Given the description of an element on the screen output the (x, y) to click on. 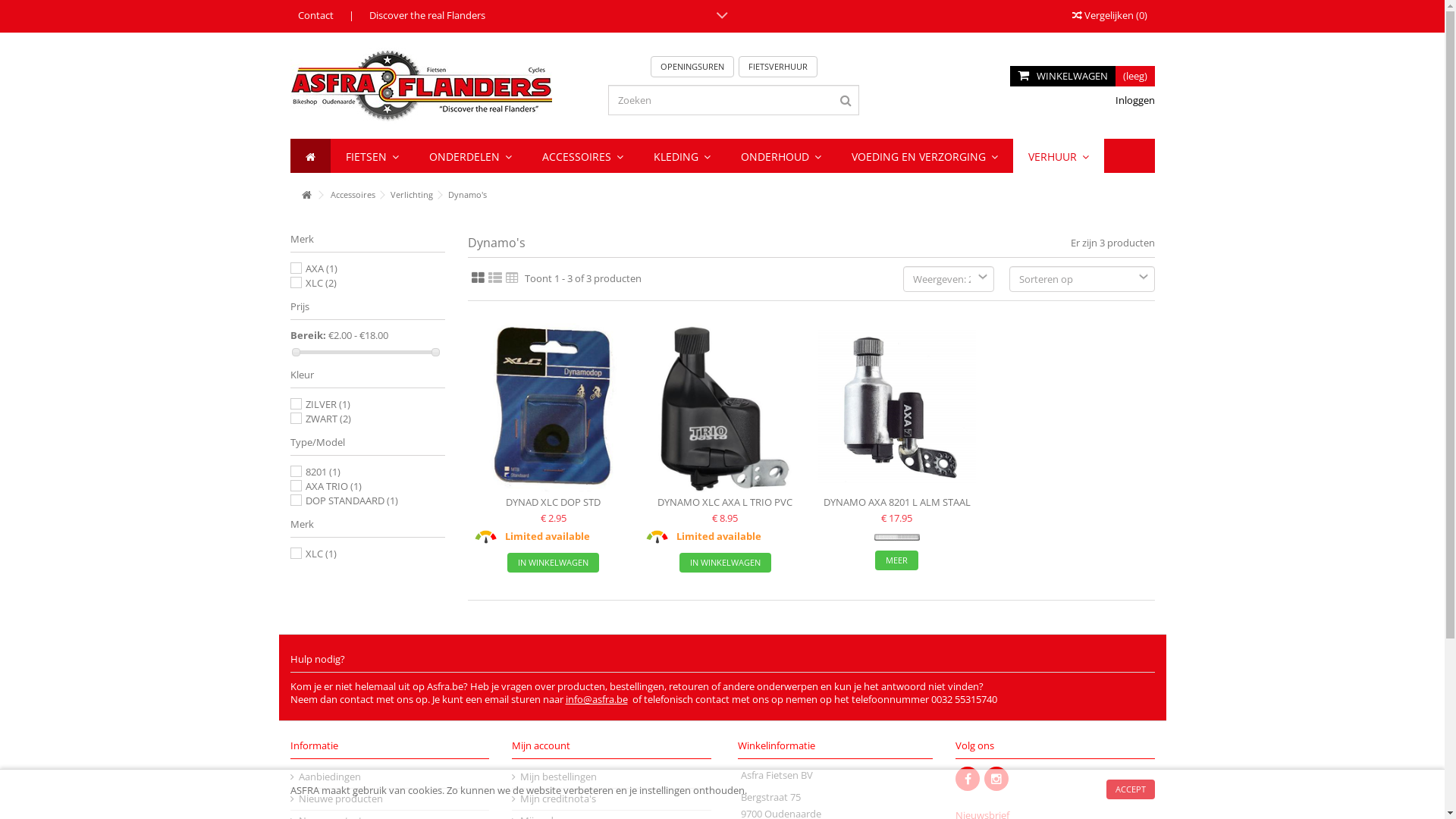
8201 (1) Element type: text (321, 471)
Limited available Element type: hover (485, 537)
info@asfra.be Element type: text (596, 699)
Contact Element type: text (314, 14)
Lijst Element type: hover (495, 278)
VERHUUR Element type: text (1058, 155)
WINKELWAGEN (leeg) Element type: text (1082, 75)
ACCESSOIRES Element type: text (581, 155)
AXA (1) Element type: text (320, 268)
DYNAD XLC DOP STD Element type: hover (553, 407)
DOP STANDAARD (1) Element type: text (350, 500)
DYNAMO XLC AXA L TRIO PVC ZWART Element type: text (724, 508)
ONDERDELEN Element type: text (470, 155)
Mijn creditnota's Element type: text (611, 798)
Facebook Element type: hover (967, 778)
FIETSVERHUUR Element type: text (777, 66)
Nieuwe producten Element type: text (390, 798)
AXA TRIO (1) Element type: text (332, 485)
Inloggen Element type: text (1133, 99)
DYNAMO XLC AXA L TRIO PVC ZWART Element type: hover (725, 407)
Vergelijken (0) Element type: text (1109, 15)
Terug naar Home Element type: hover (305, 194)
Verlichting Element type: text (410, 194)
ACCEPT Element type: text (1129, 789)
DYNAMO AXA 8201 L ALM STAAL WIEL Element type: hover (896, 407)
Tabel Element type: hover (511, 278)
DYNAD XLC DOP STD Element type: text (552, 501)
DYNAMO AXA 8201 L ALM STAAL WIEL Element type: text (896, 508)
MEER Element type: text (896, 560)
VOEDING EN VERZORGING Element type: text (923, 155)
XLC (2) Element type: text (319, 282)
FIETSEN Element type: text (372, 155)
Raster Element type: hover (477, 278)
ZWART (2) Element type: text (327, 418)
Accessoires Element type: text (352, 194)
Mijn bestellingen Element type: text (611, 776)
OPENINGSUREN Element type: text (692, 66)
ZILVER (1) Element type: text (326, 404)
KLEDING Element type: text (681, 155)
ONDERHOUD Element type: text (779, 155)
XLC (1) Element type: text (319, 553)
Mijn account Element type: text (540, 745)
Limited available Element type: hover (657, 537)
Aanbiedingen Element type: text (390, 776)
IN WINKELWAGEN Element type: text (725, 562)
IN WINKELWAGEN Element type: text (553, 562)
Instagram Element type: hover (996, 778)
